Given the description of an element on the screen output the (x, y) to click on. 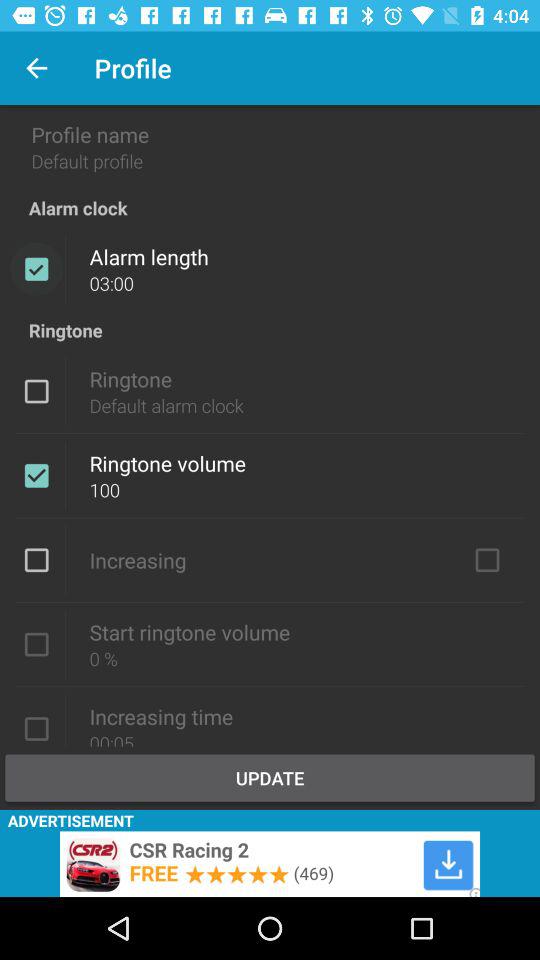
select ringtone volume (36, 475)
